Given the description of an element on the screen output the (x, y) to click on. 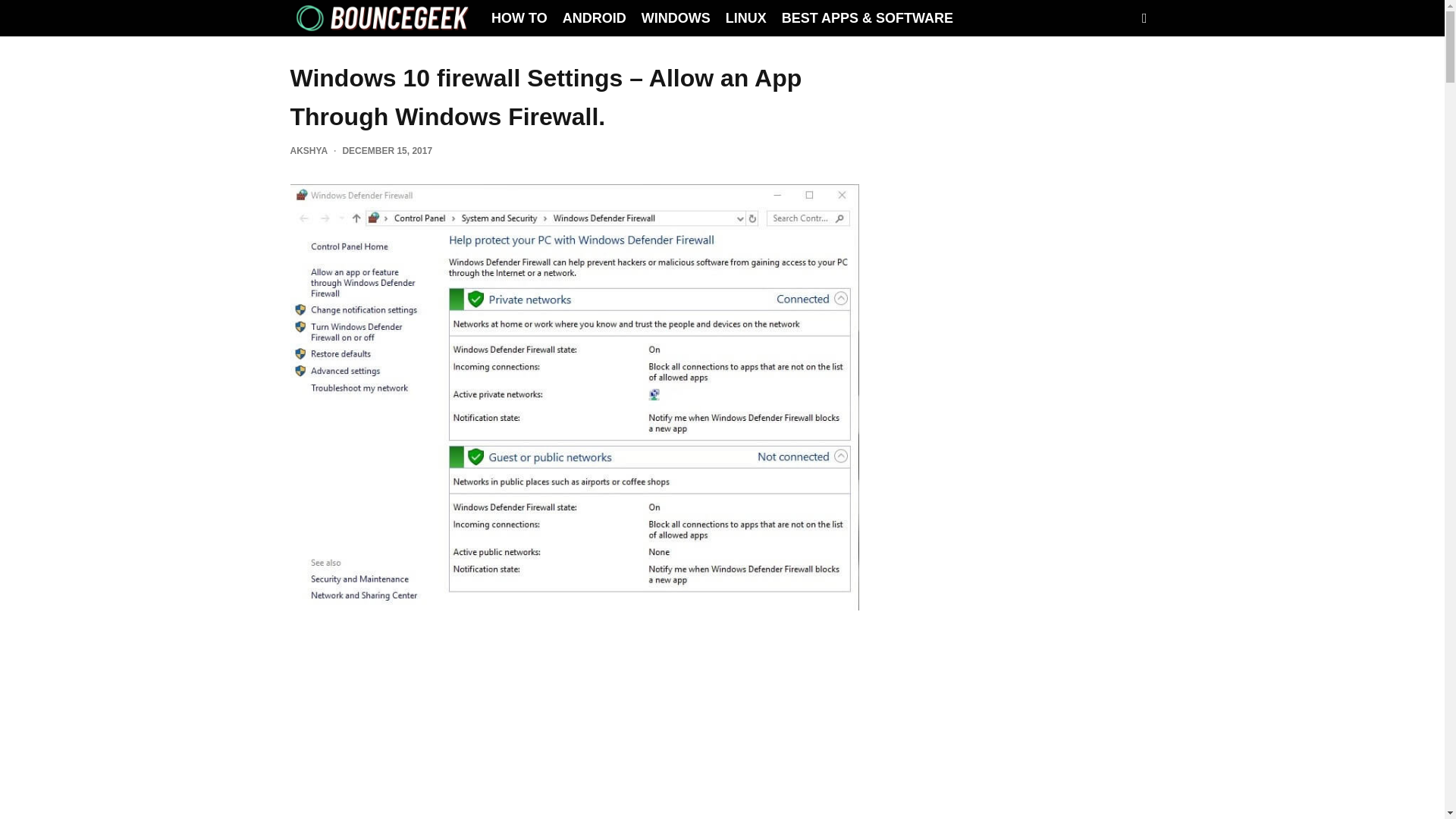
Advertisement (574, 733)
AKSHYA (308, 150)
HOW TO (518, 18)
Advertisement (1017, 314)
LINUX (745, 18)
WINDOWS (675, 18)
ANDROID (593, 18)
